Given the description of an element on the screen output the (x, y) to click on. 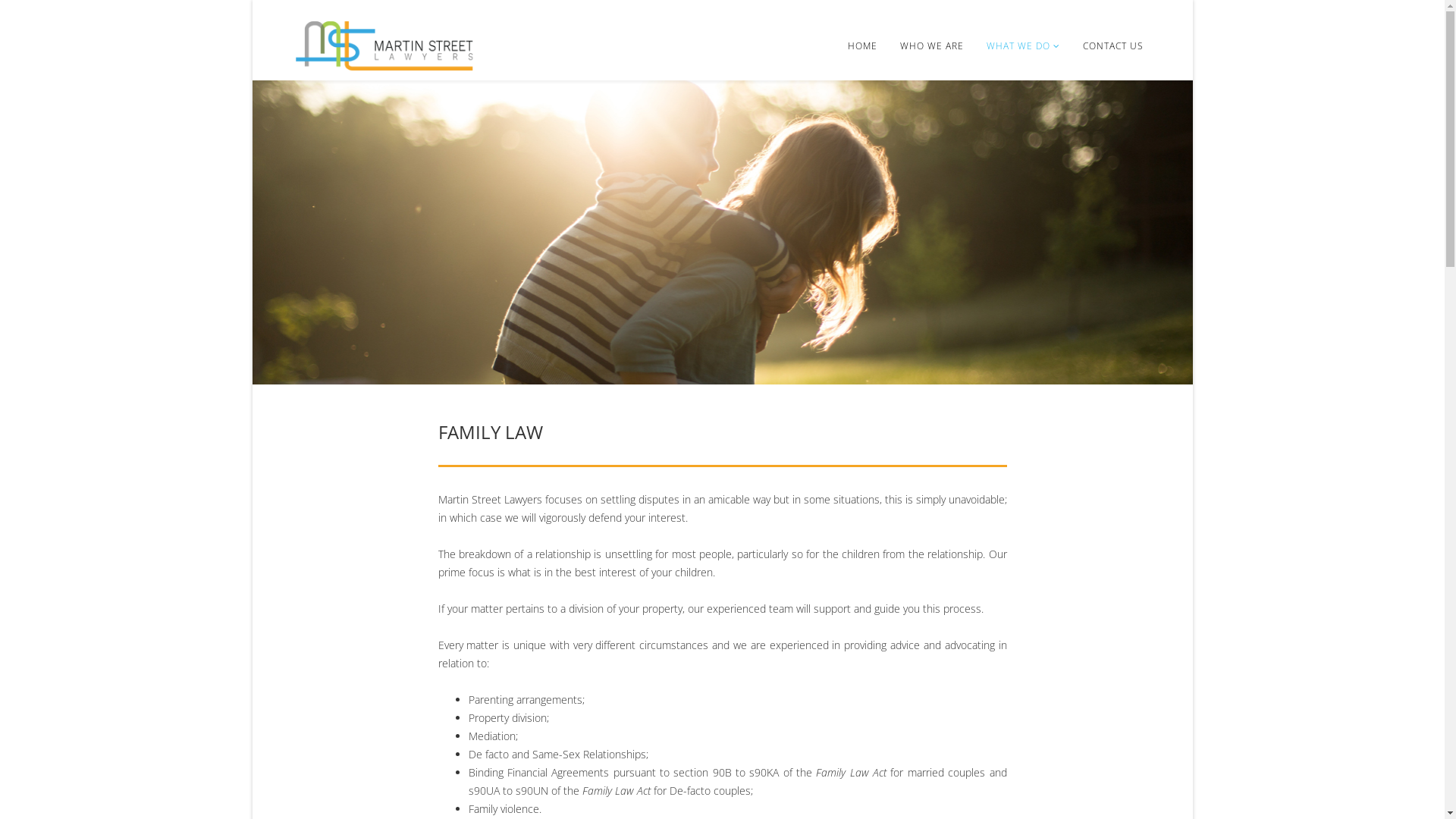
WHO WE ARE Element type: text (931, 46)
CONTACT US Element type: text (1112, 46)
WHAT WE DO Element type: text (1023, 46)
HOME Element type: text (861, 46)
